Given the description of an element on the screen output the (x, y) to click on. 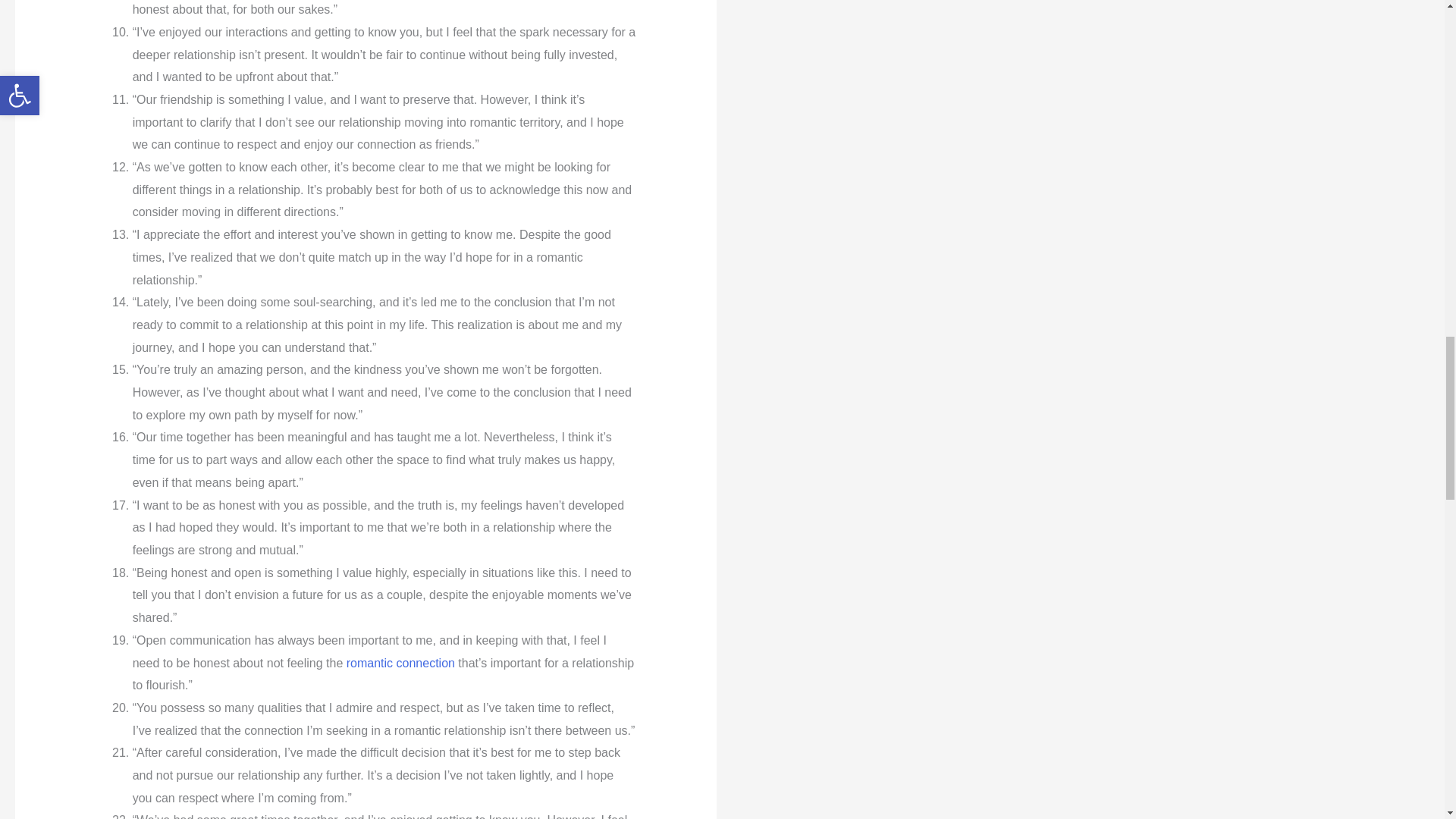
romantic connection (400, 662)
